Given the description of an element on the screen output the (x, y) to click on. 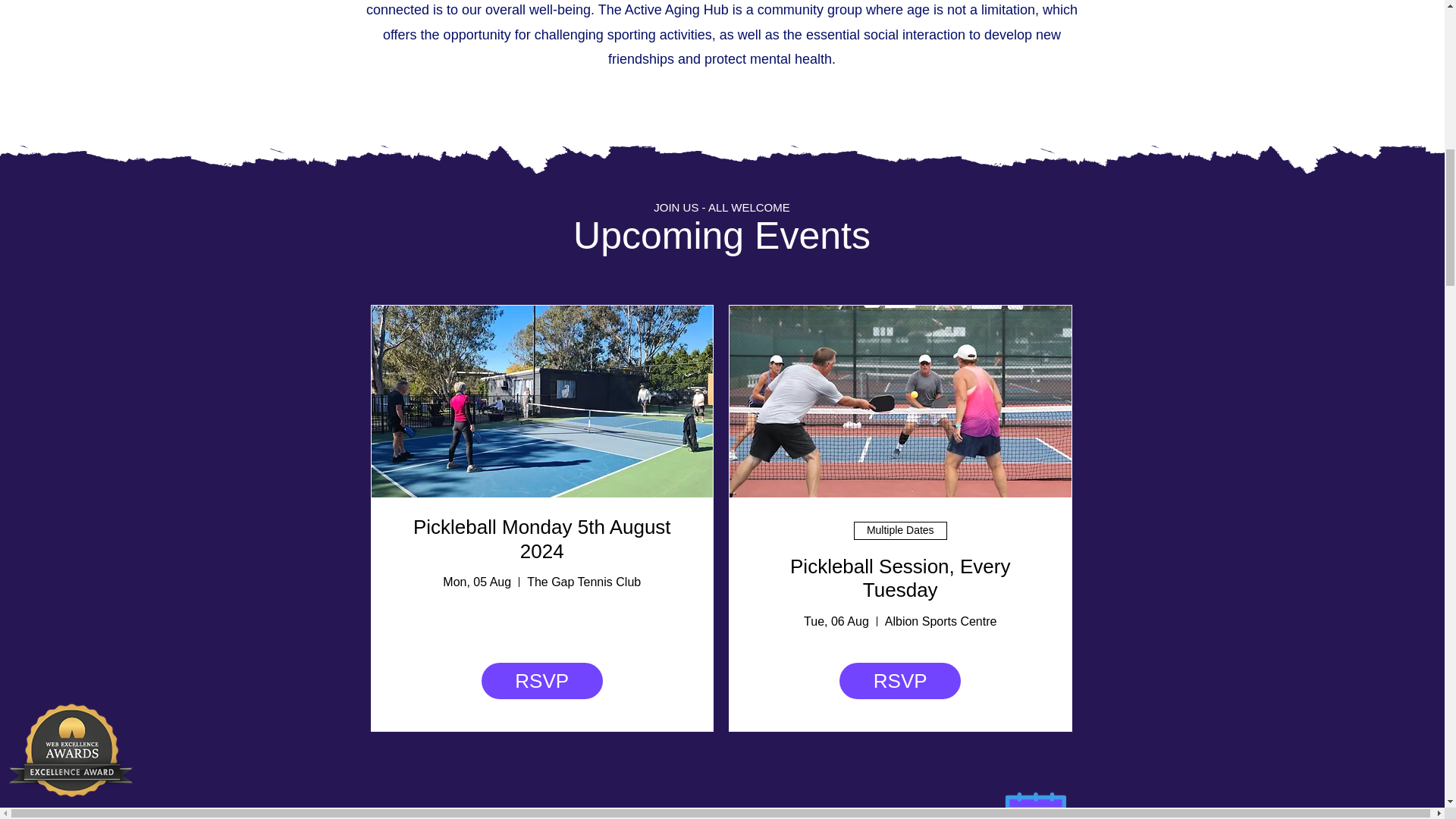
RSVP (541, 680)
Pickleball Session, Every Tuesday (900, 578)
RSVP (900, 680)
Pickleball Monday 5th August 2024 (542, 538)
